Given the description of an element on the screen output the (x, y) to click on. 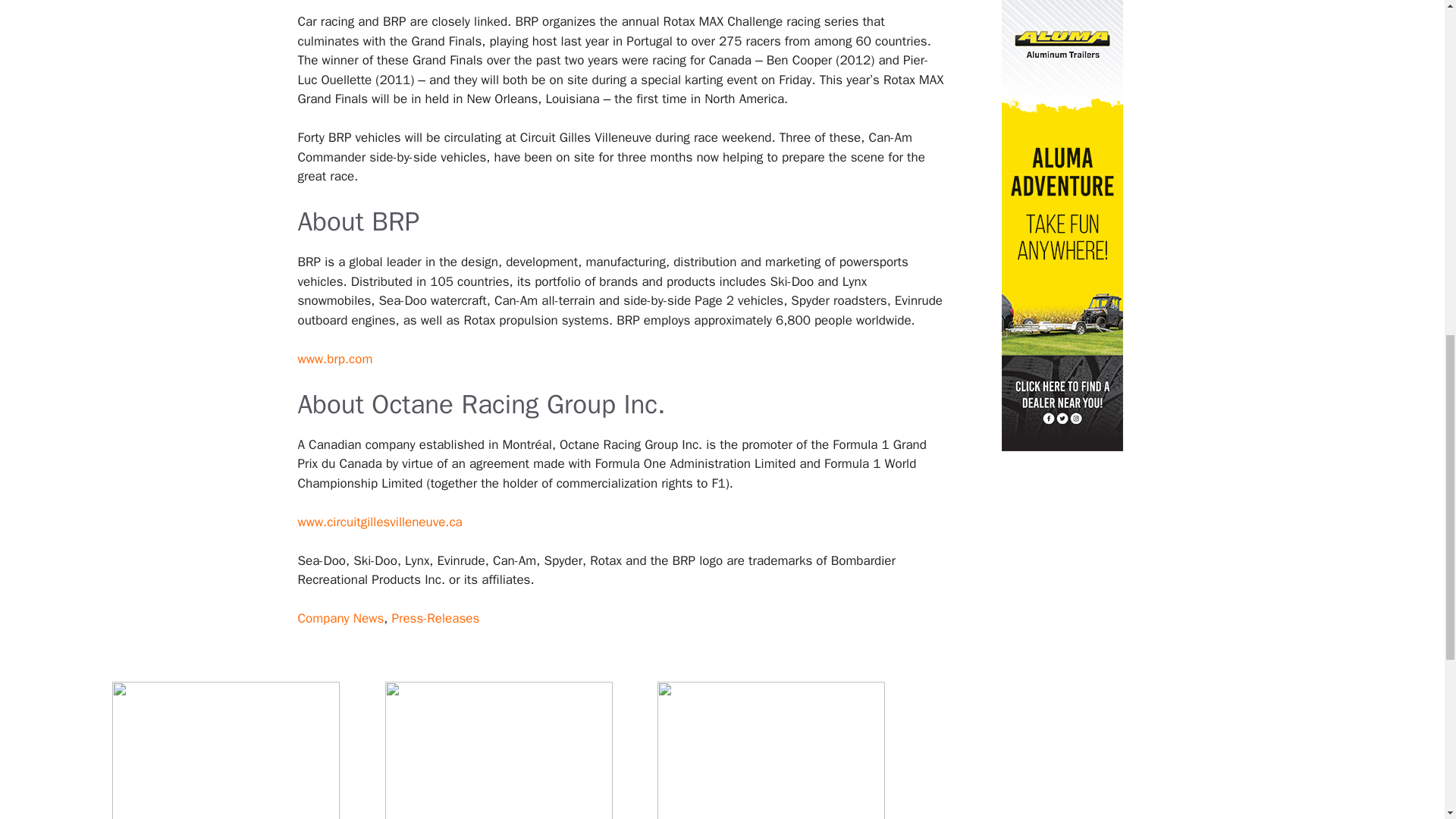
www.circuitgillesvilleneuve.ca (379, 521)
Company News (340, 618)
www.brp.com (334, 358)
Press-Releases (435, 618)
